Given the description of an element on the screen output the (x, y) to click on. 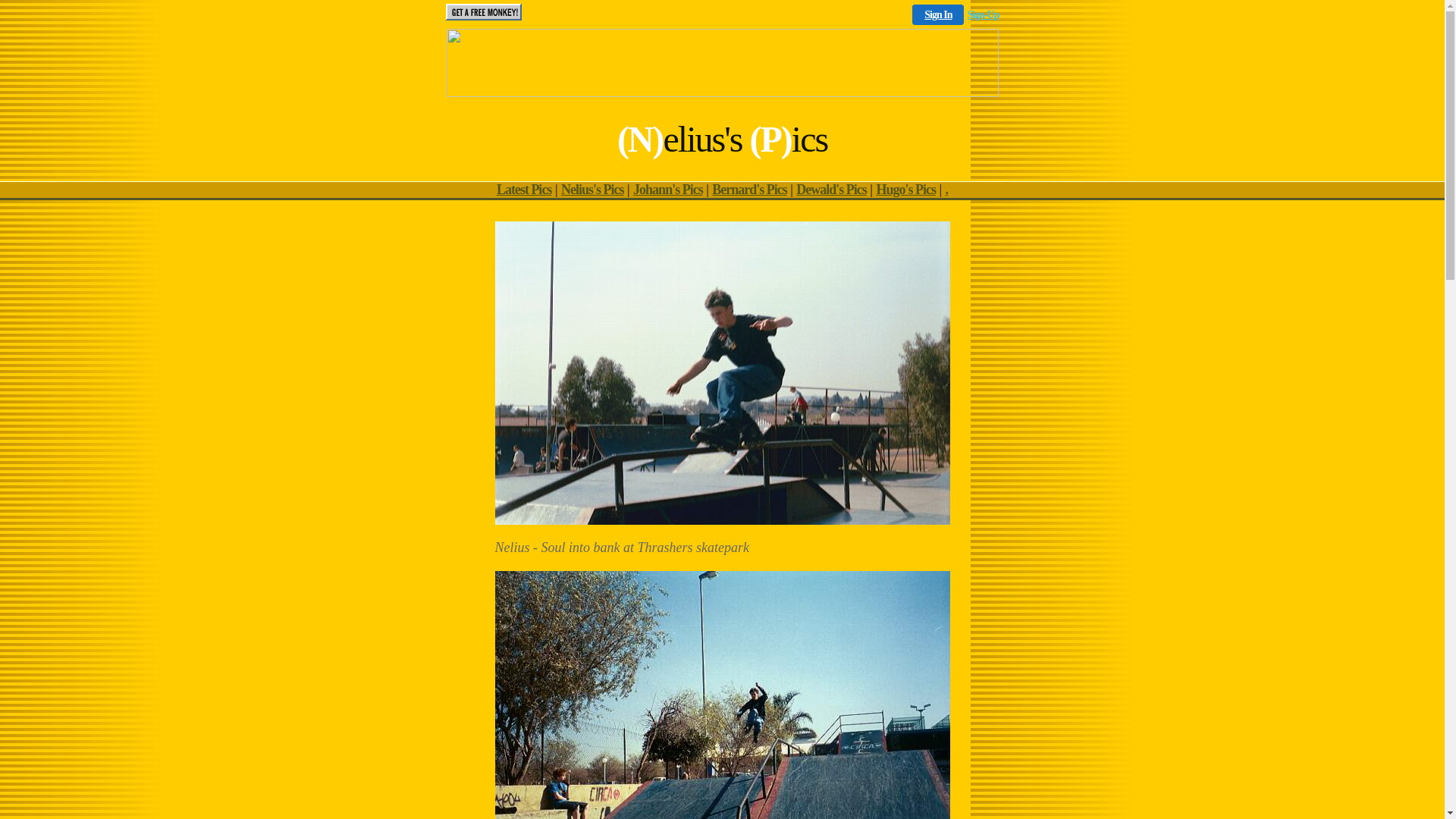
Sign In Element type: text (937, 14)
Latest Pics Element type: text (523, 189)
Nelius's Pics Element type: text (592, 189)
Hugo's Pics Element type: text (905, 189)
Johann's Pics Element type: text (667, 189)
Sign-Up Element type: text (982, 14)
Dewald's Pics Element type: text (831, 189)
Bernard's Pics Element type: text (749, 189)
. Element type: text (946, 189)
